Given the description of an element on the screen output the (x, y) to click on. 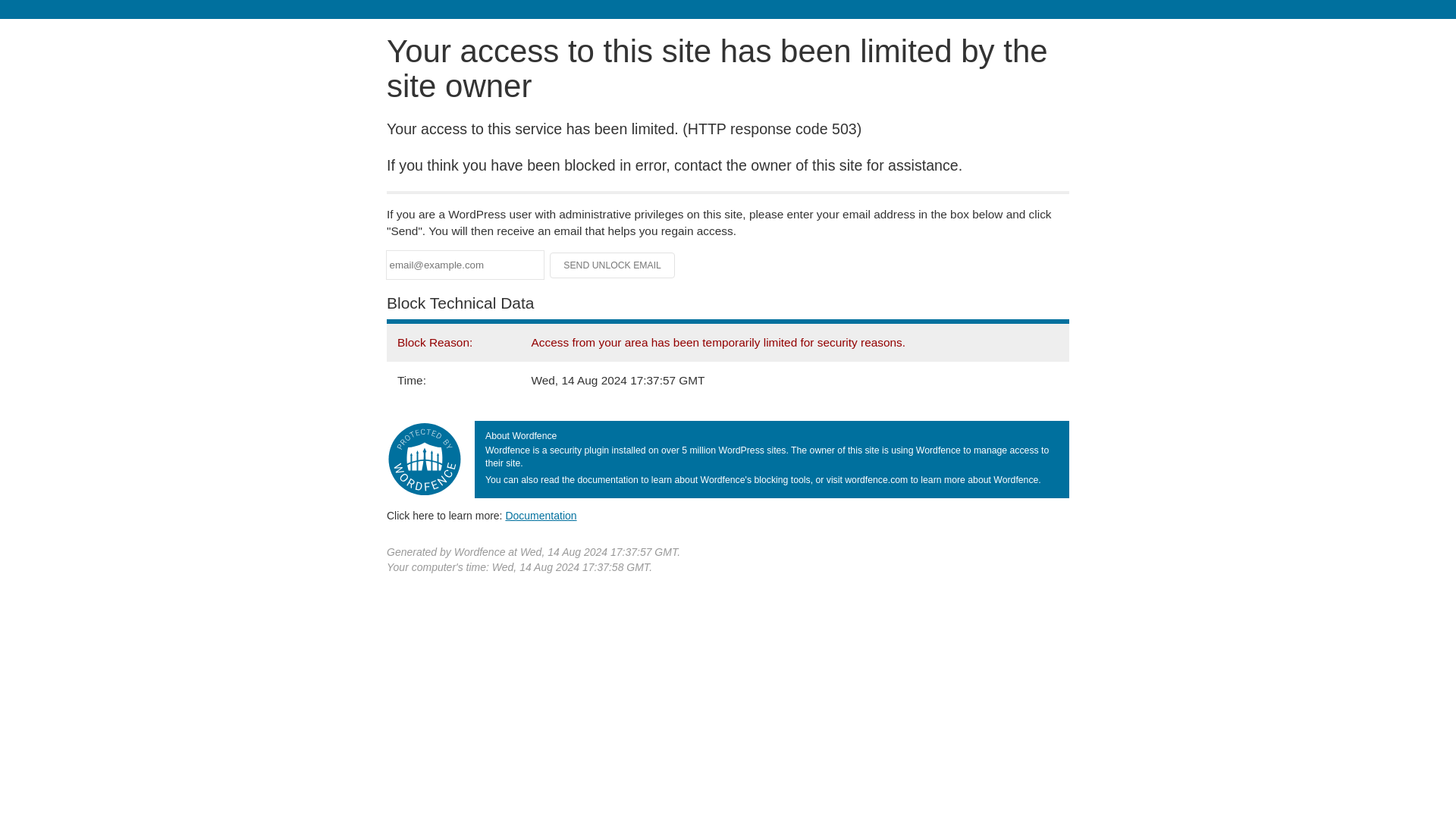
Documentation (540, 515)
Send Unlock Email (612, 265)
Send Unlock Email (612, 265)
